Given the description of an element on the screen output the (x, y) to click on. 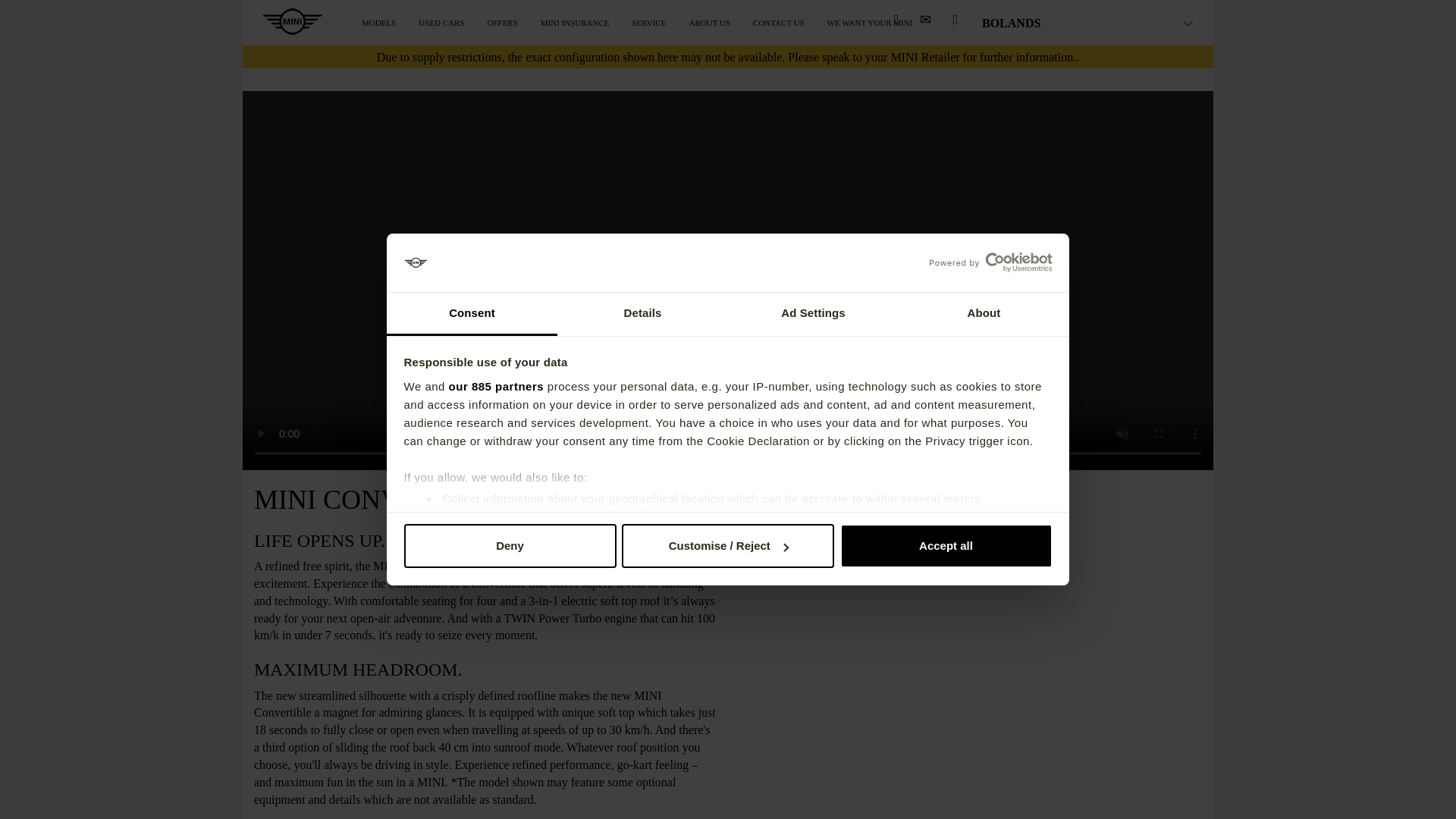
Details (642, 313)
Ad Settings (813, 313)
our 885 partners (496, 386)
details section (932, 536)
Consent (472, 313)
About (983, 313)
